Given the description of an element on the screen output the (x, y) to click on. 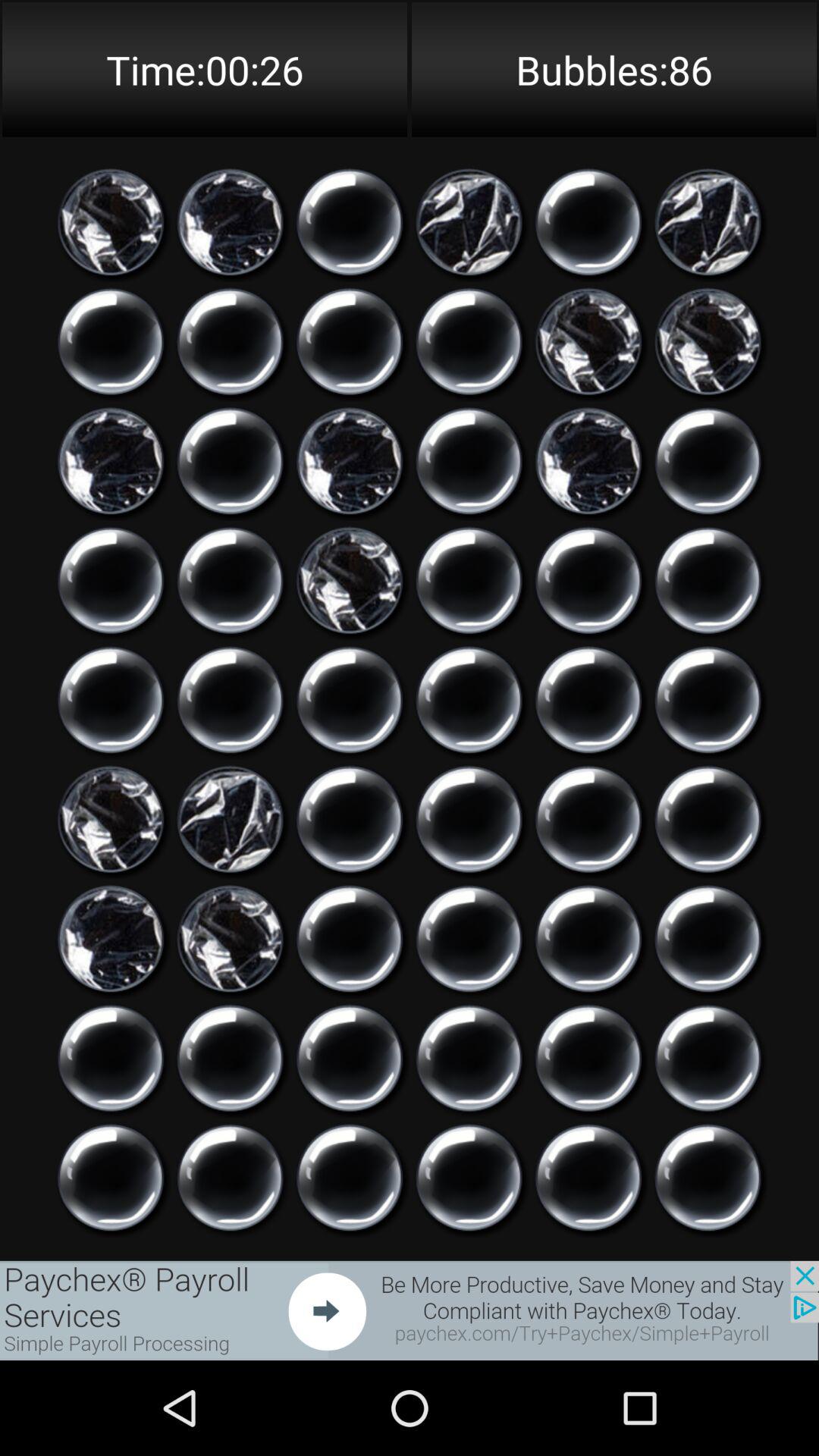
burst bubbles (707, 819)
